Given the description of an element on the screen output the (x, y) to click on. 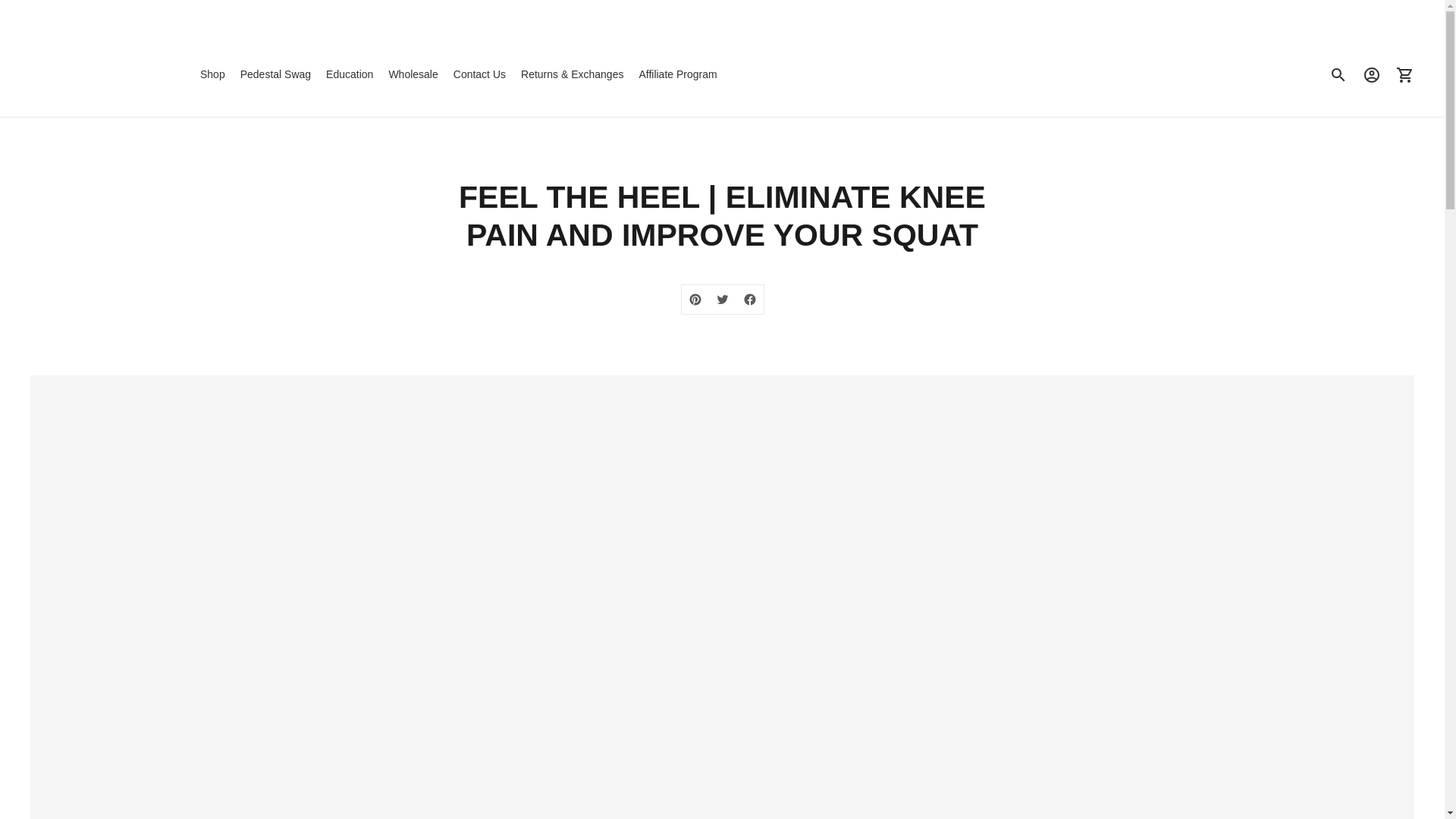
Share to Facebook (748, 299)
Education (349, 74)
Wholesale (413, 74)
Pedestal Swag (275, 74)
Contact Us (478, 74)
Account (1372, 74)
Share to twitter (721, 299)
Search (1338, 74)
Share to Pinterest (694, 299)
Affiliate Program (677, 74)
